Given the description of an element on the screen output the (x, y) to click on. 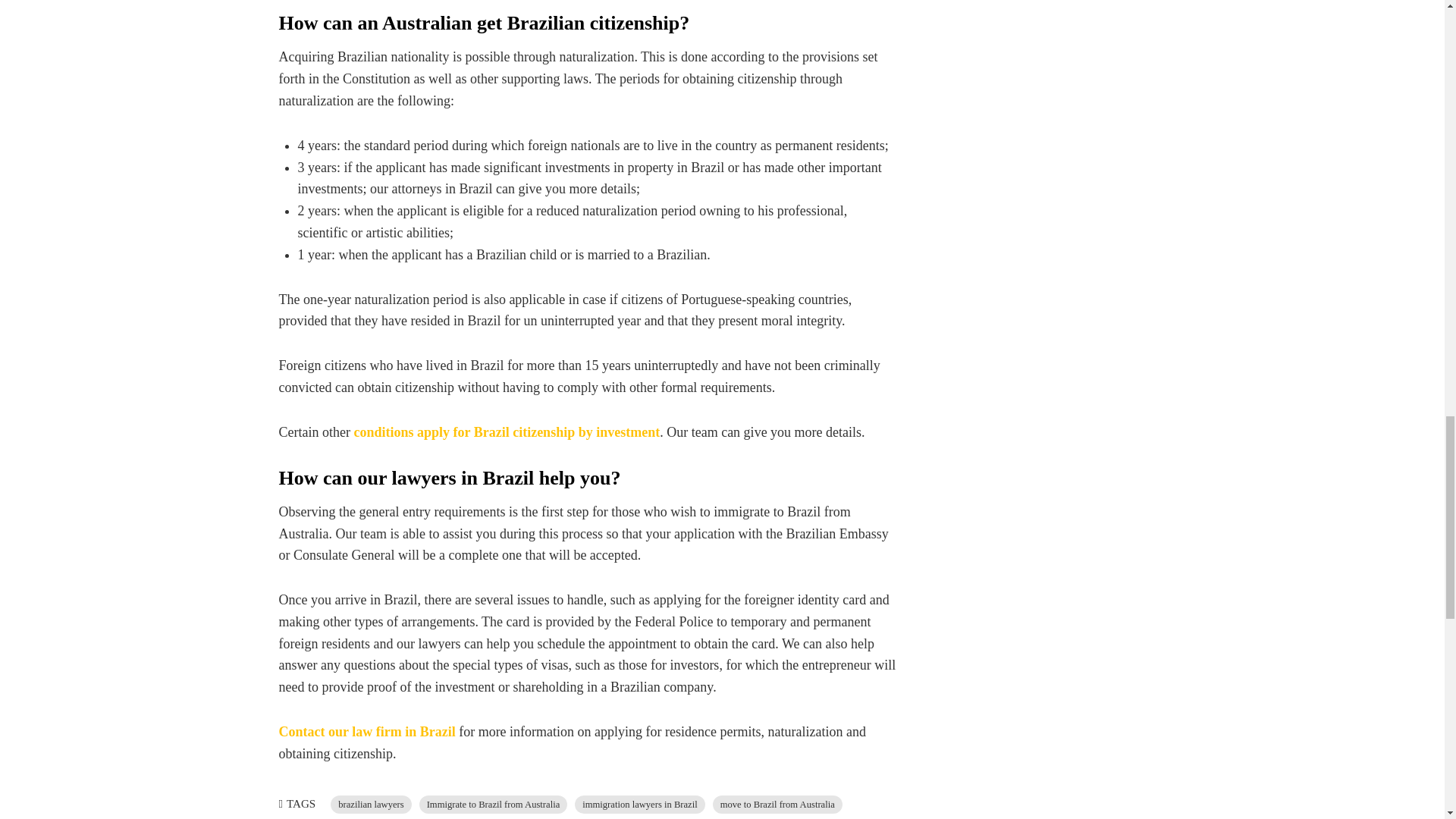
conditions apply for Brazil citizenship by investment (506, 432)
Contact our law firm in Brazil (367, 731)
move to Brazil from Australia (778, 804)
brazilian lawyers (370, 804)
Immigrate to Brazil from Australia (493, 804)
immigration lawyers in Brazil (639, 804)
